Given the description of an element on the screen output the (x, y) to click on. 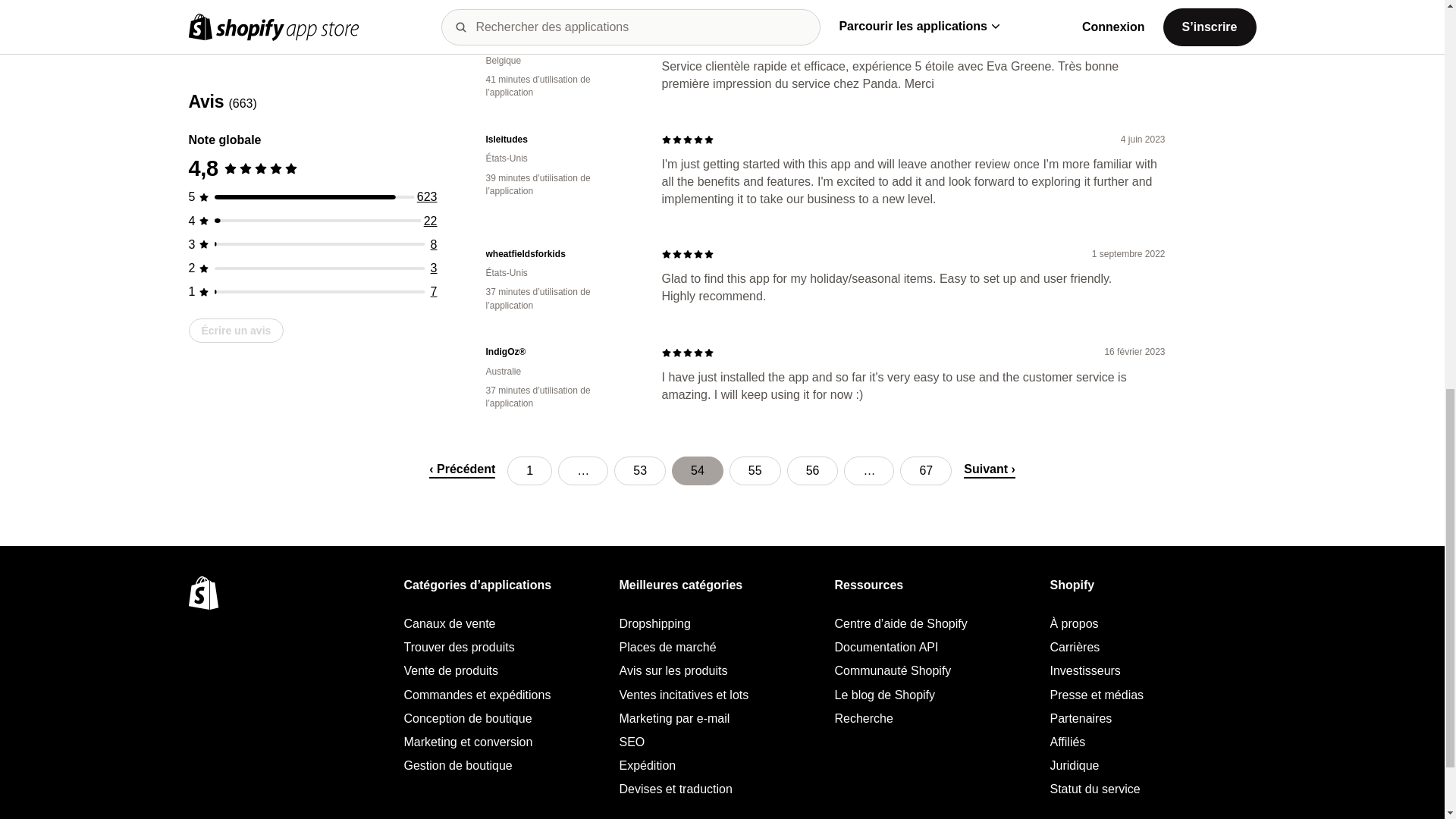
Isleitudes (560, 139)
wheatfieldsforkids (560, 254)
goloisofficiel (560, 41)
